Given the description of an element on the screen output the (x, y) to click on. 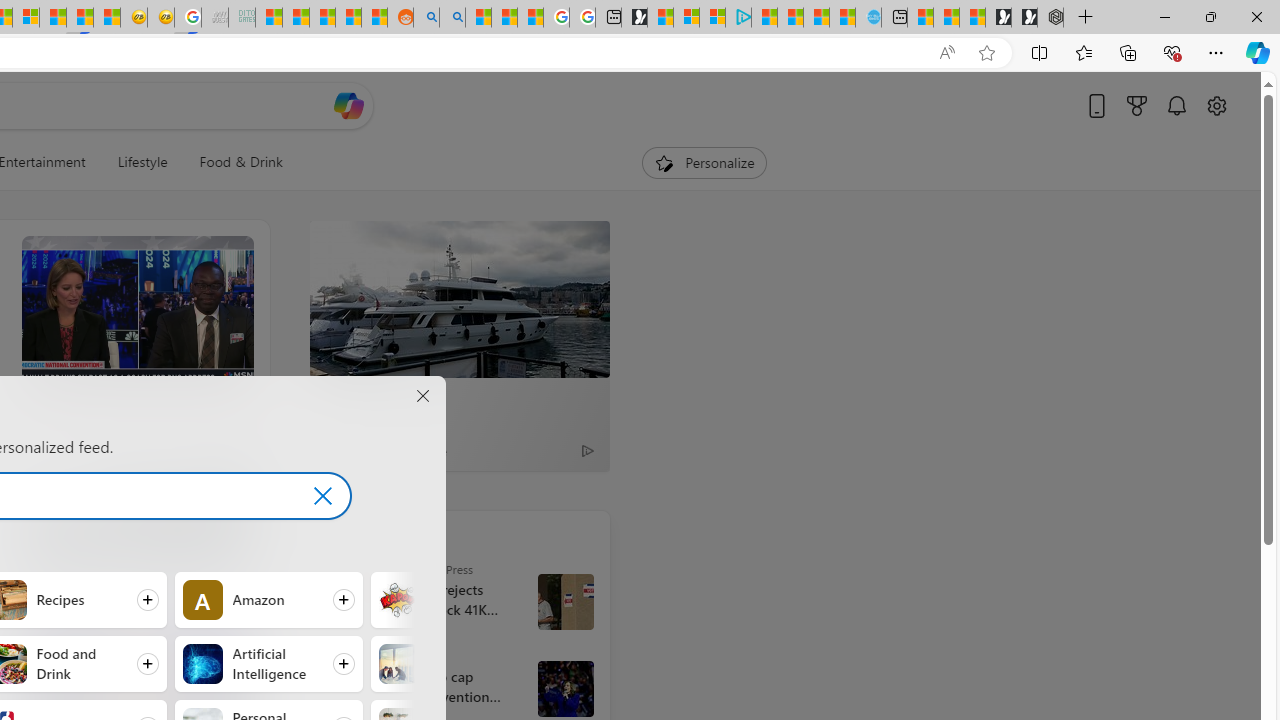
Open settings (1216, 105)
Fix Boat Bliss (459, 397)
Student Loan Update: Forgiveness Program Ends This Month (347, 17)
Class: hero-image (136, 316)
Microsoft rewards (1137, 105)
